Given the description of an element on the screen output the (x, y) to click on. 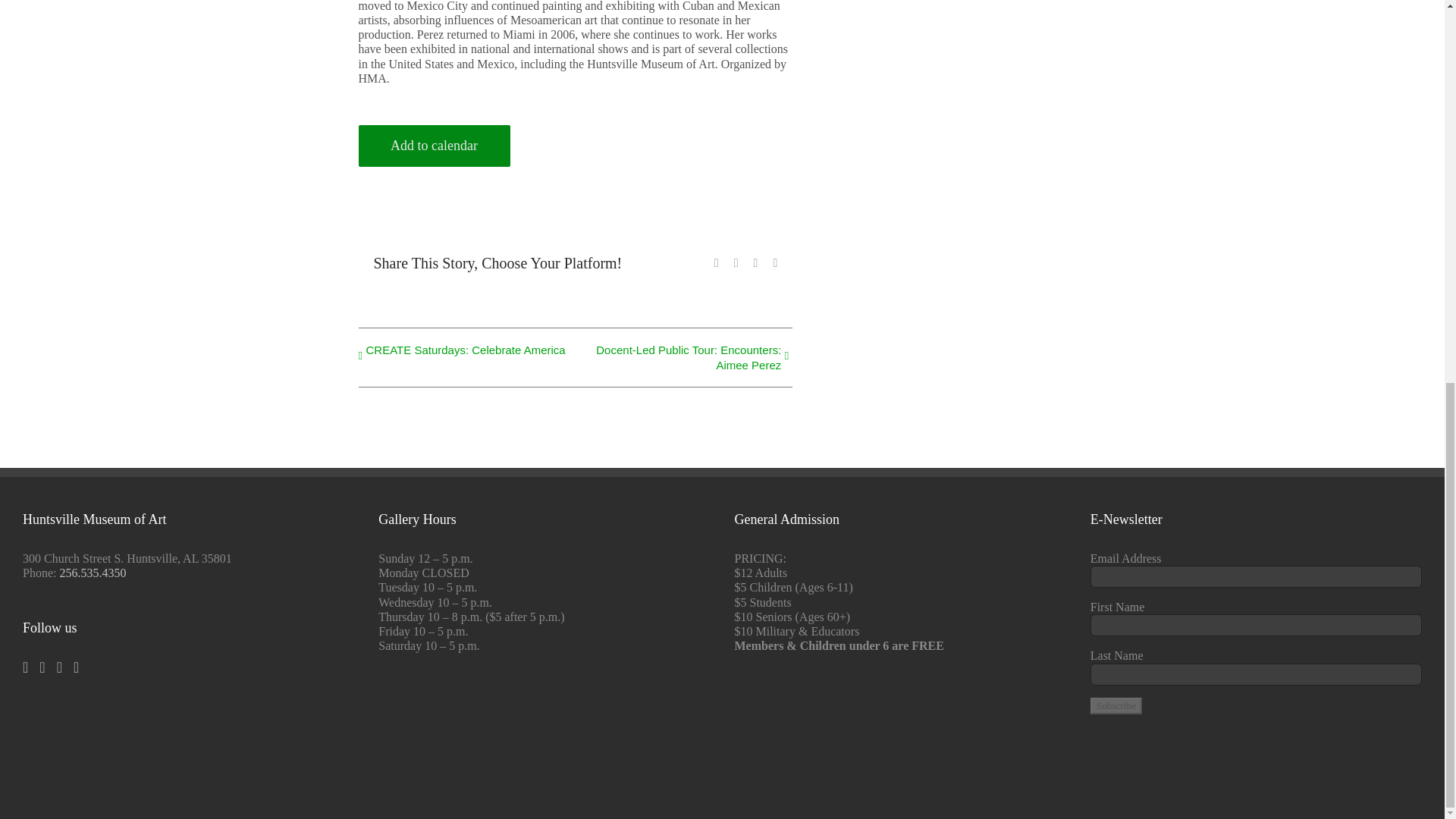
Subscribe (1116, 705)
